Given the description of an element on the screen output the (x, y) to click on. 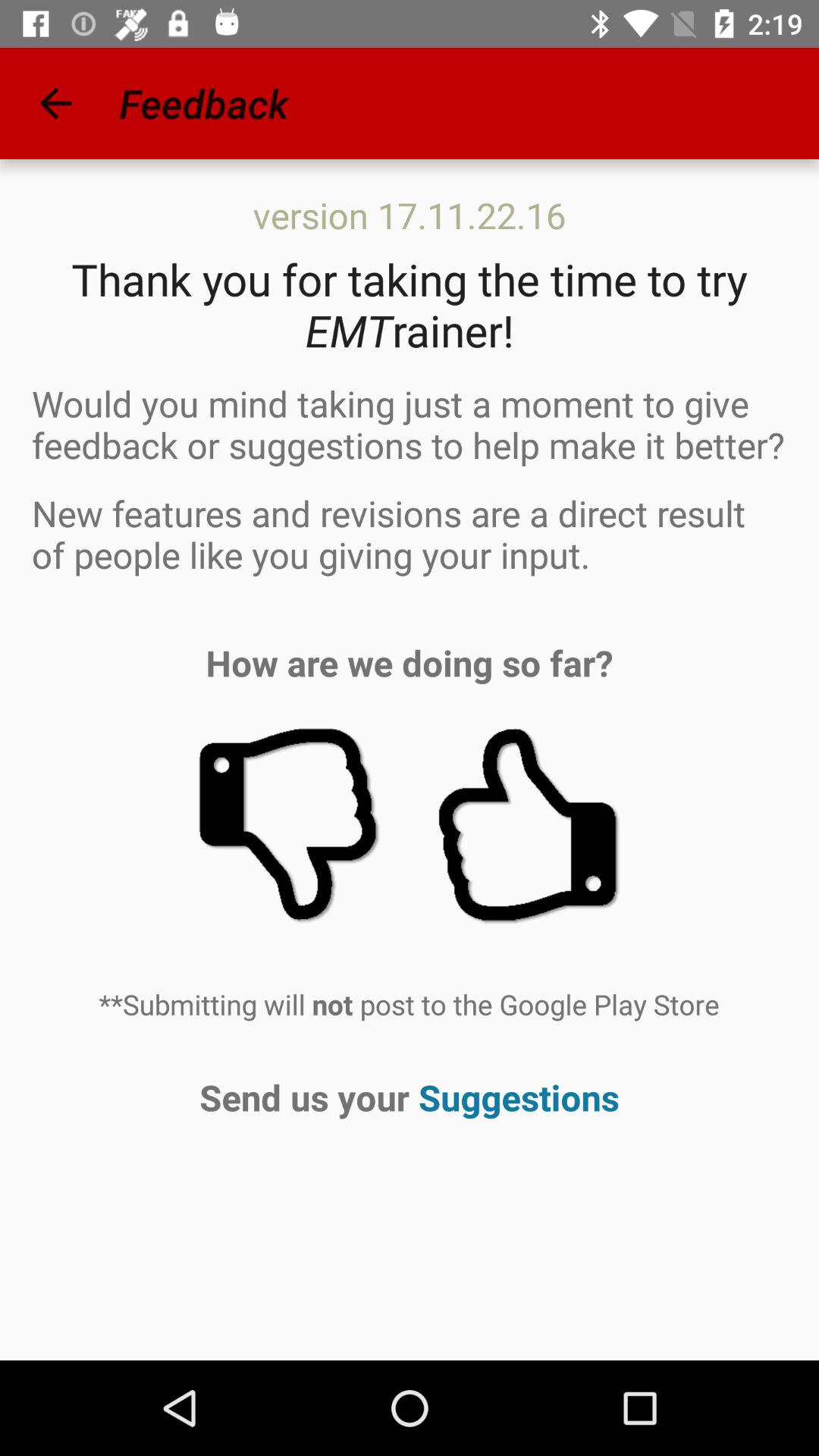
tap icon above the version 17 11 (55, 103)
